Given the description of an element on the screen output the (x, y) to click on. 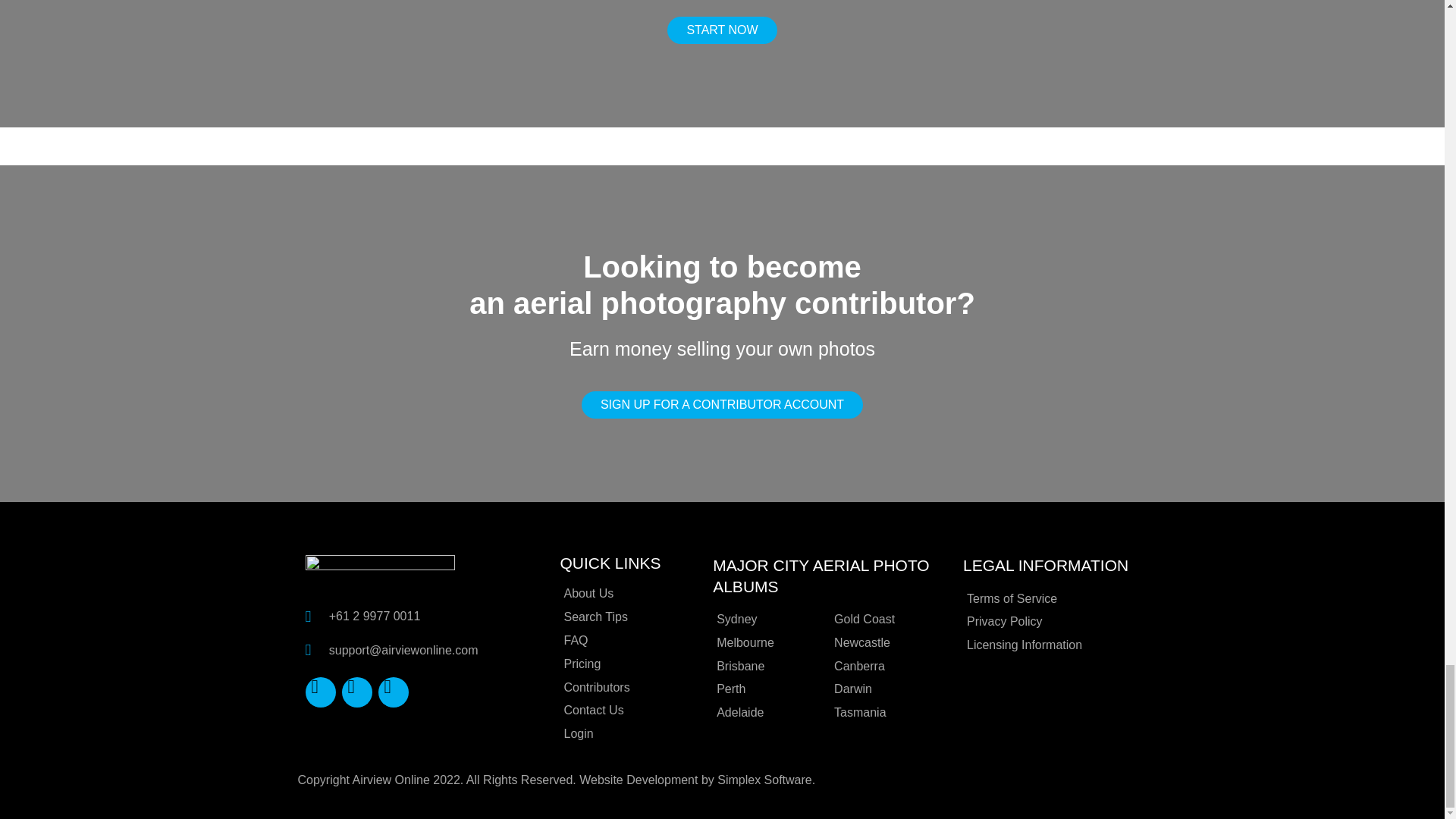
START NOW (721, 30)
Simplex Software. (766, 779)
SIGN UP FOR A CONTRIBUTOR ACCOUNT (721, 404)
